Given the description of an element on the screen output the (x, y) to click on. 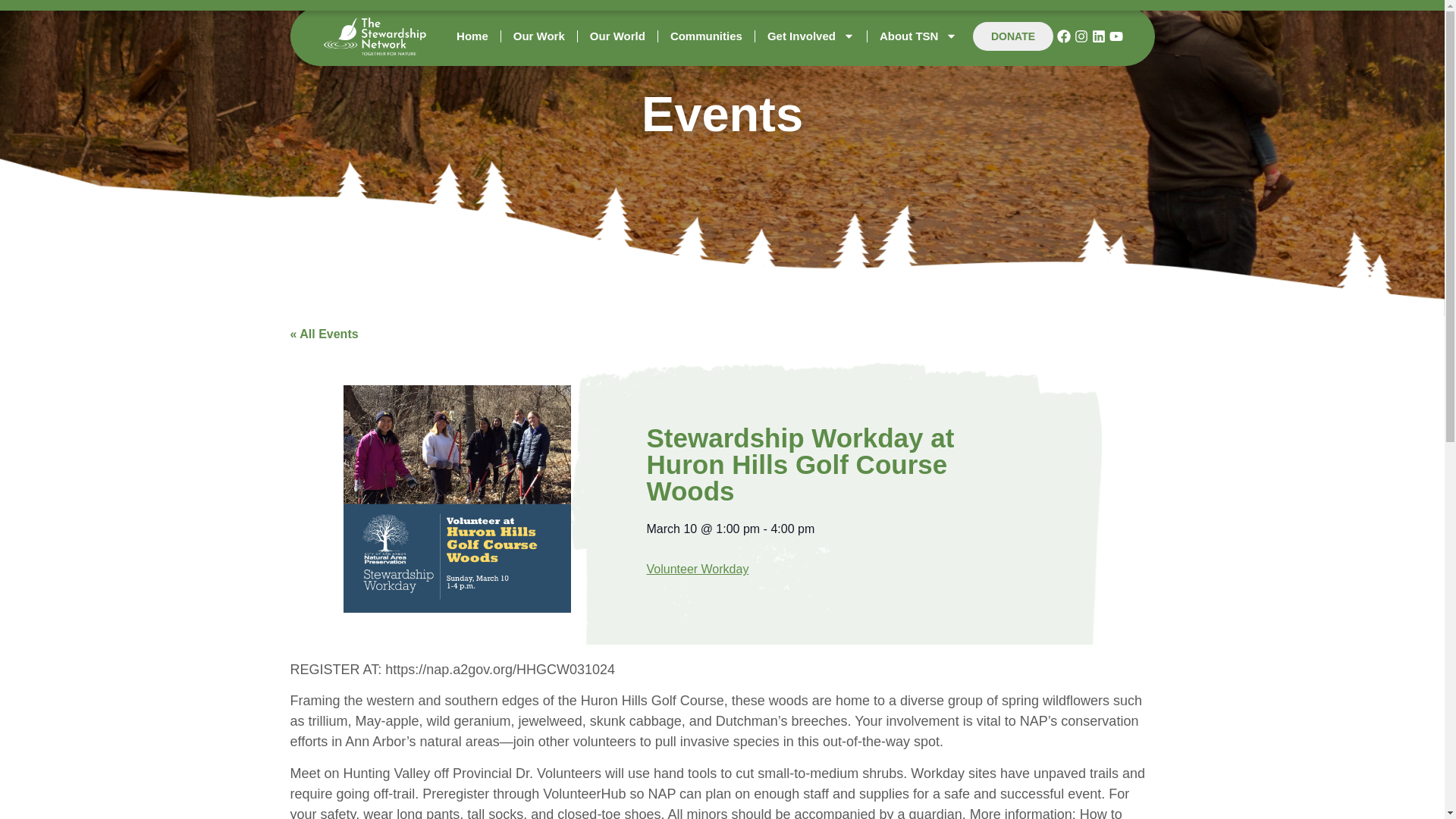
About TSN (927, 4)
